Given the description of an element on the screen output the (x, y) to click on. 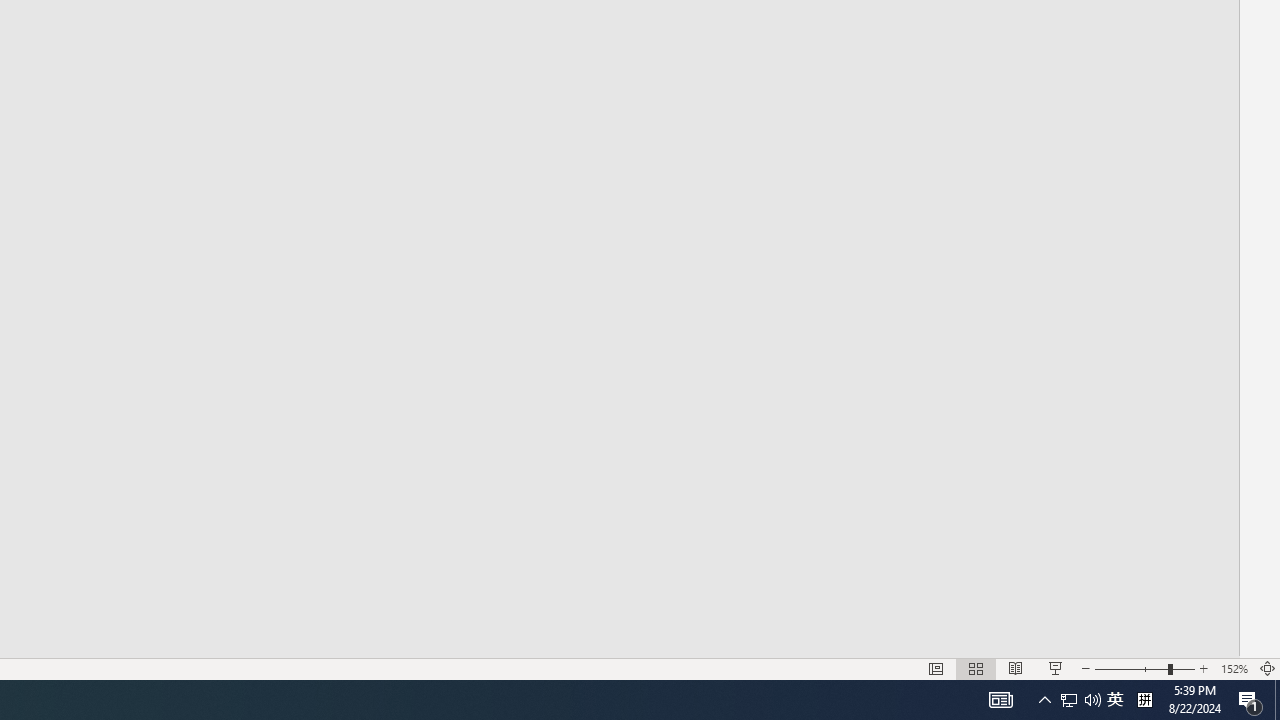
Zoom 152% (1234, 668)
